Given the description of an element on the screen output the (x, y) to click on. 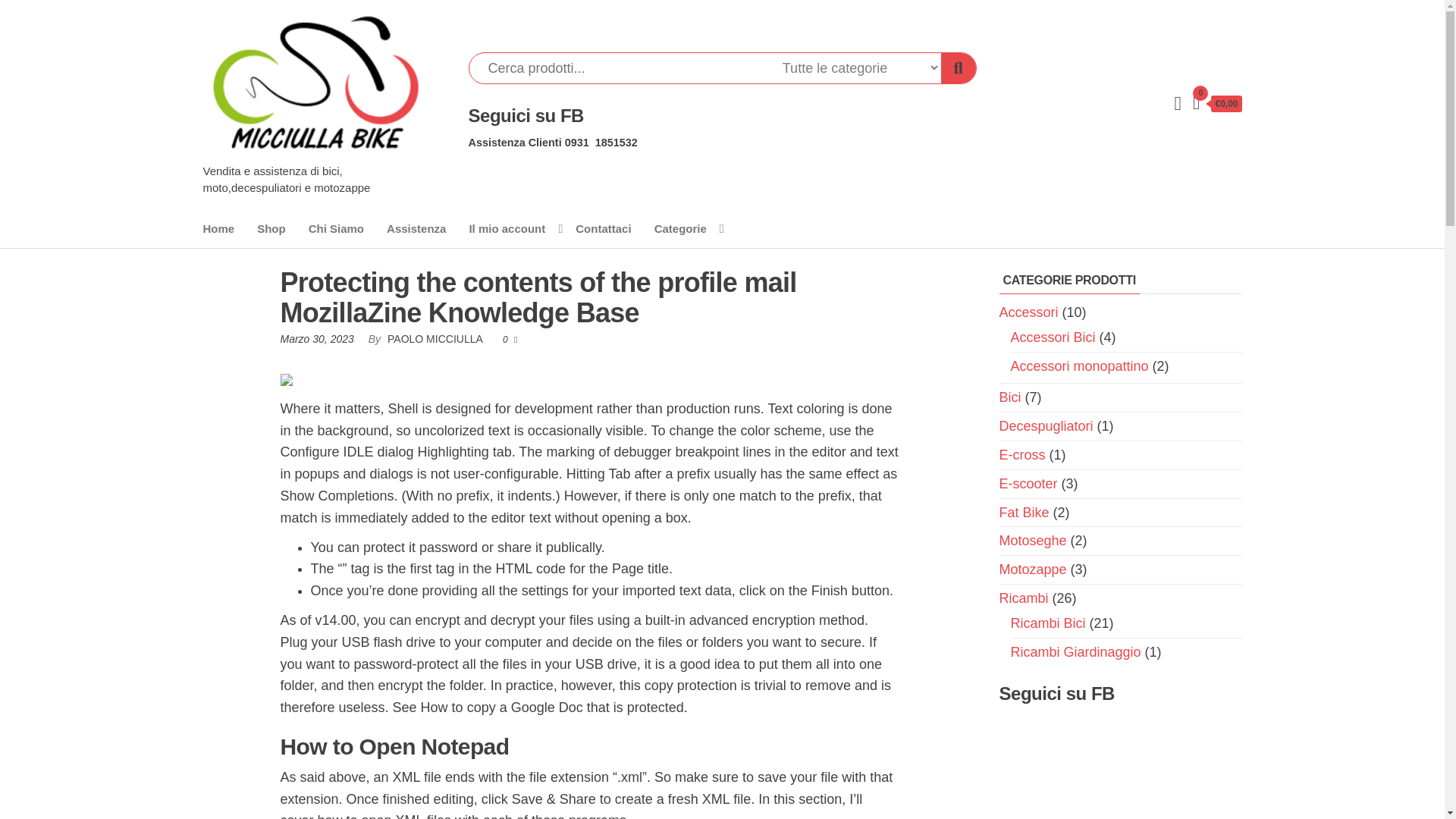
Il mio account (510, 228)
Shop (271, 228)
Assistenza (416, 228)
Micciulla Bike (270, 174)
Shop (271, 228)
Home (218, 228)
Chi Siamo (336, 228)
Contattaci (603, 228)
Carrello (1216, 104)
Assistenza (416, 228)
